Given the description of an element on the screen output the (x, y) to click on. 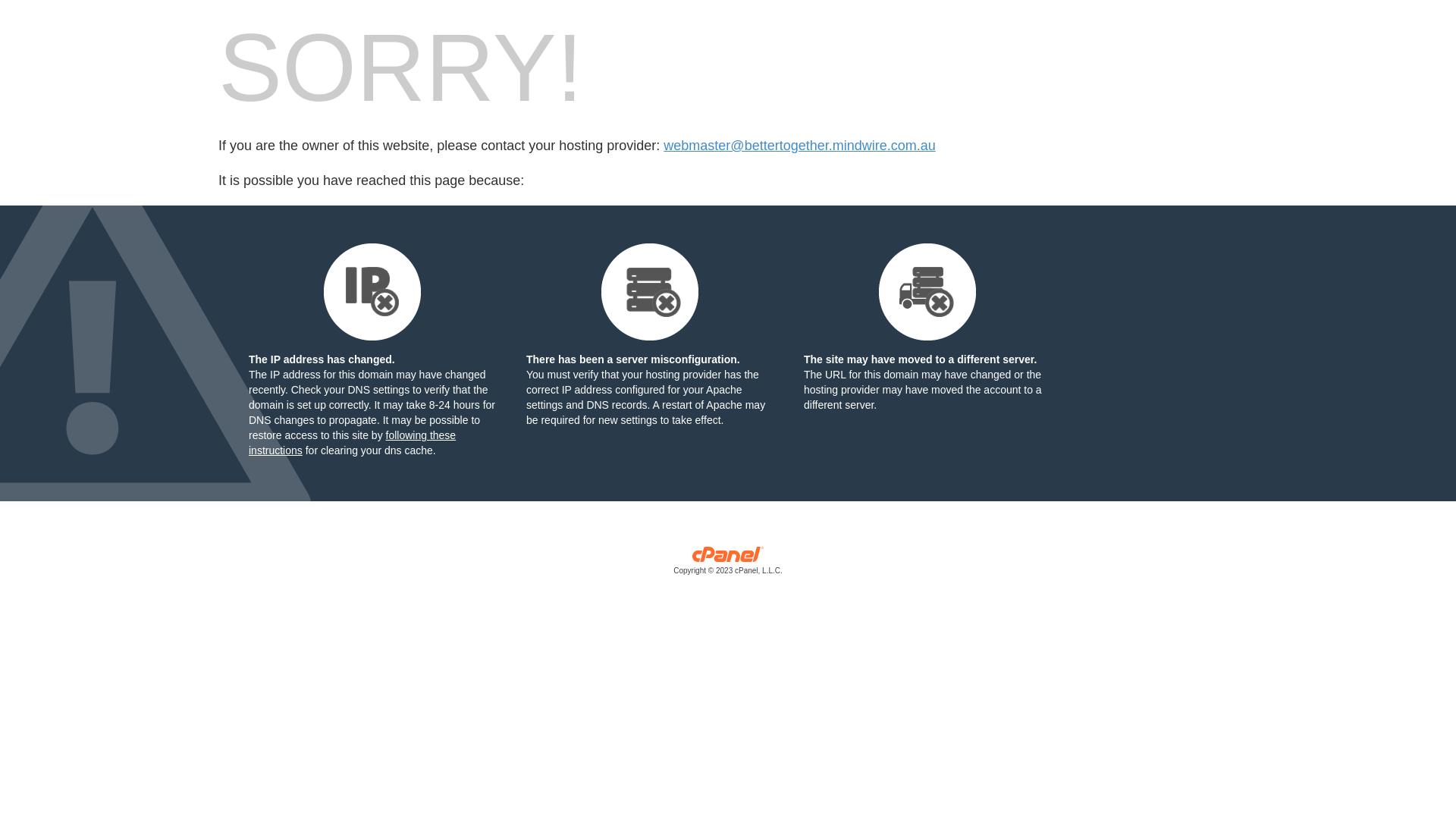
following these instructions Element type: text (351, 442)
webmaster@bettertogether.mindwire.com.au Element type: text (799, 145)
